Given the description of an element on the screen output the (x, y) to click on. 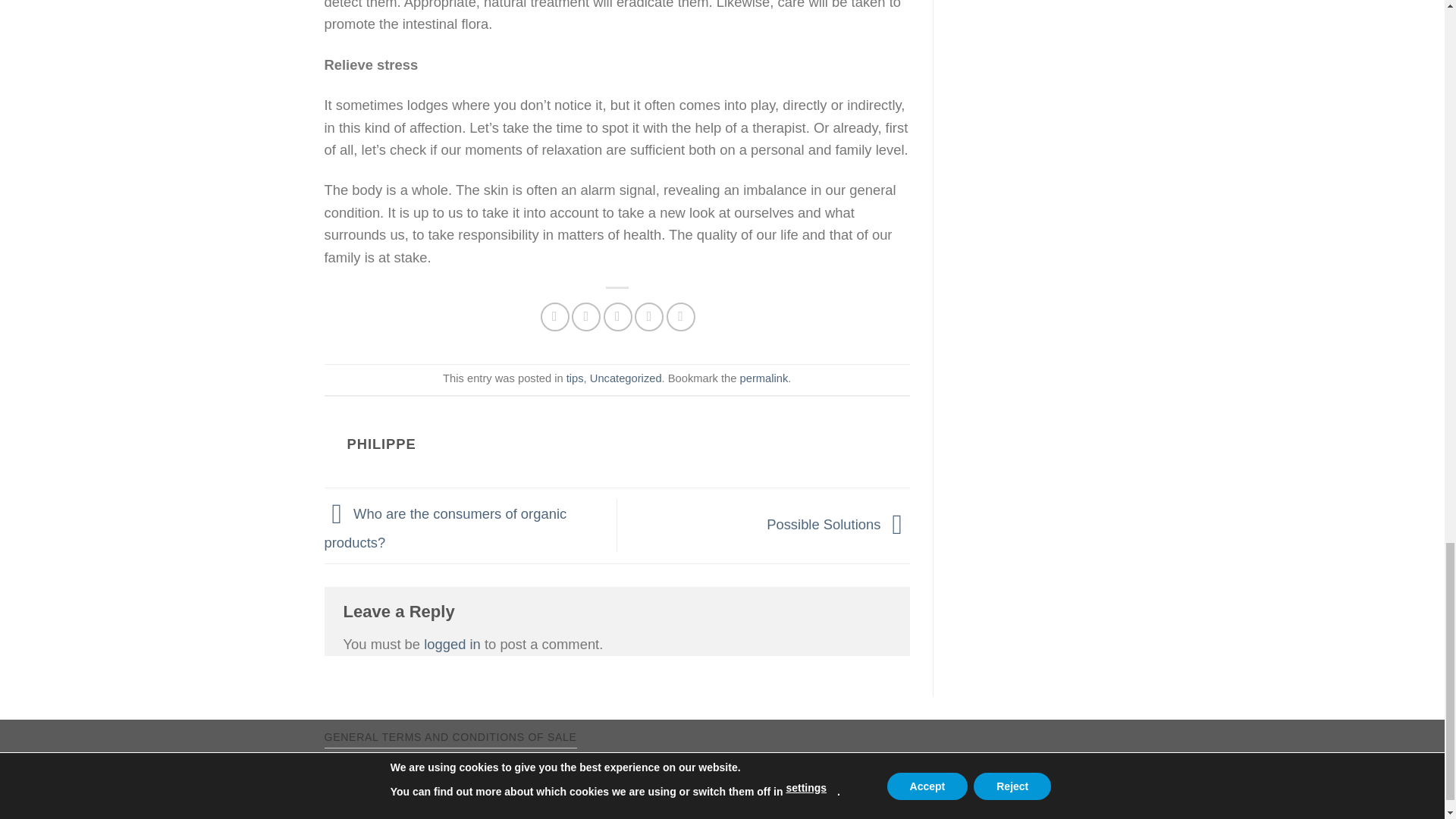
Uncategorized (625, 378)
Who are the consumers of organic products? (445, 527)
Pin on Pinterest (648, 316)
Share on LinkedIn (680, 316)
tips (574, 378)
Share on Twitter (585, 316)
Permalink to Lifestyle (764, 378)
logged in (451, 643)
Possible Solutions (838, 524)
Email to a Friend (617, 316)
Share on Facebook (554, 316)
permalink (764, 378)
GENERAL TERMS AND CONDITIONS OF SALE (450, 736)
